Given the description of an element on the screen output the (x, y) to click on. 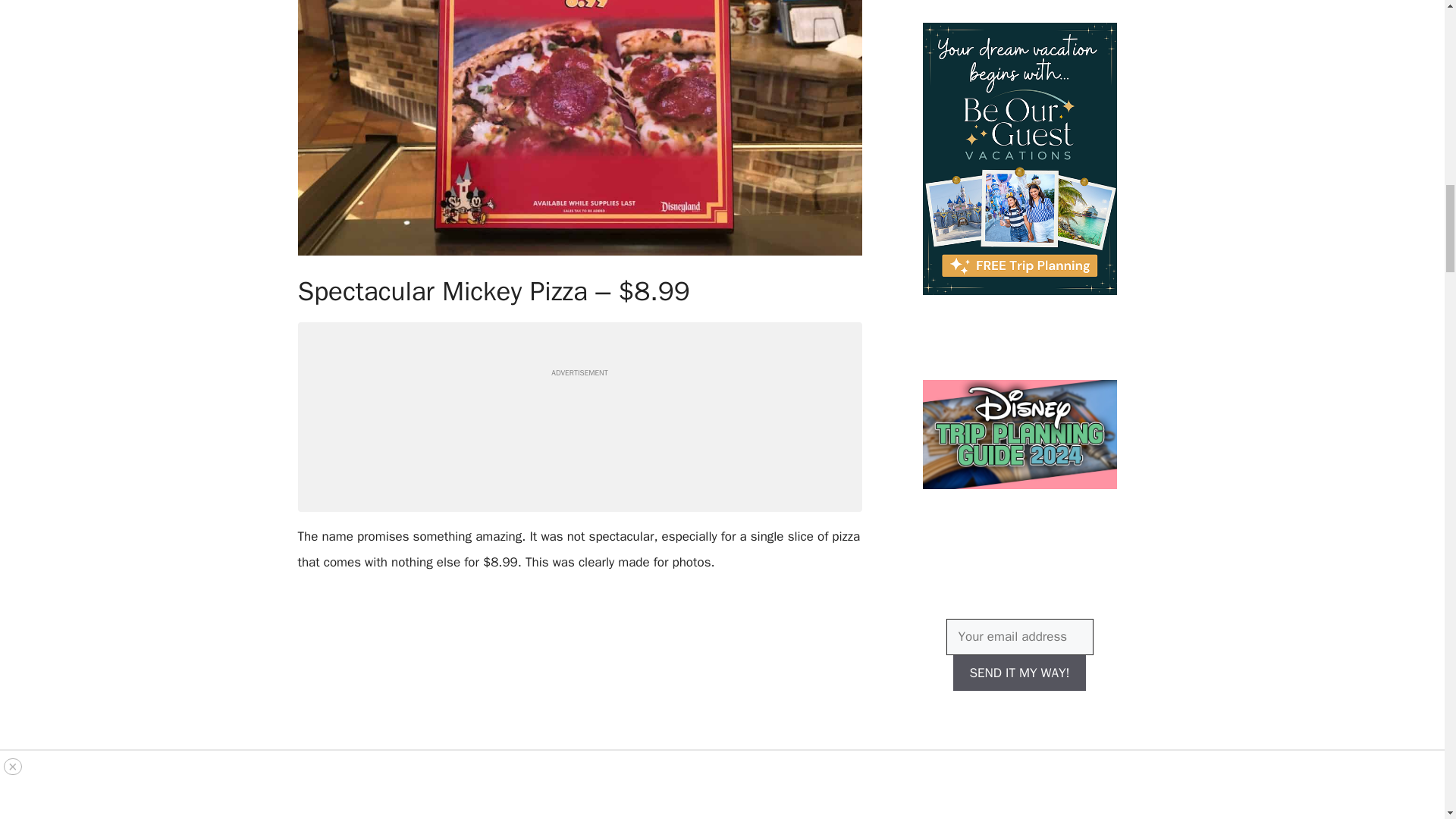
SEND IT MY WAY! (1018, 673)
